Given the description of an element on the screen output the (x, y) to click on. 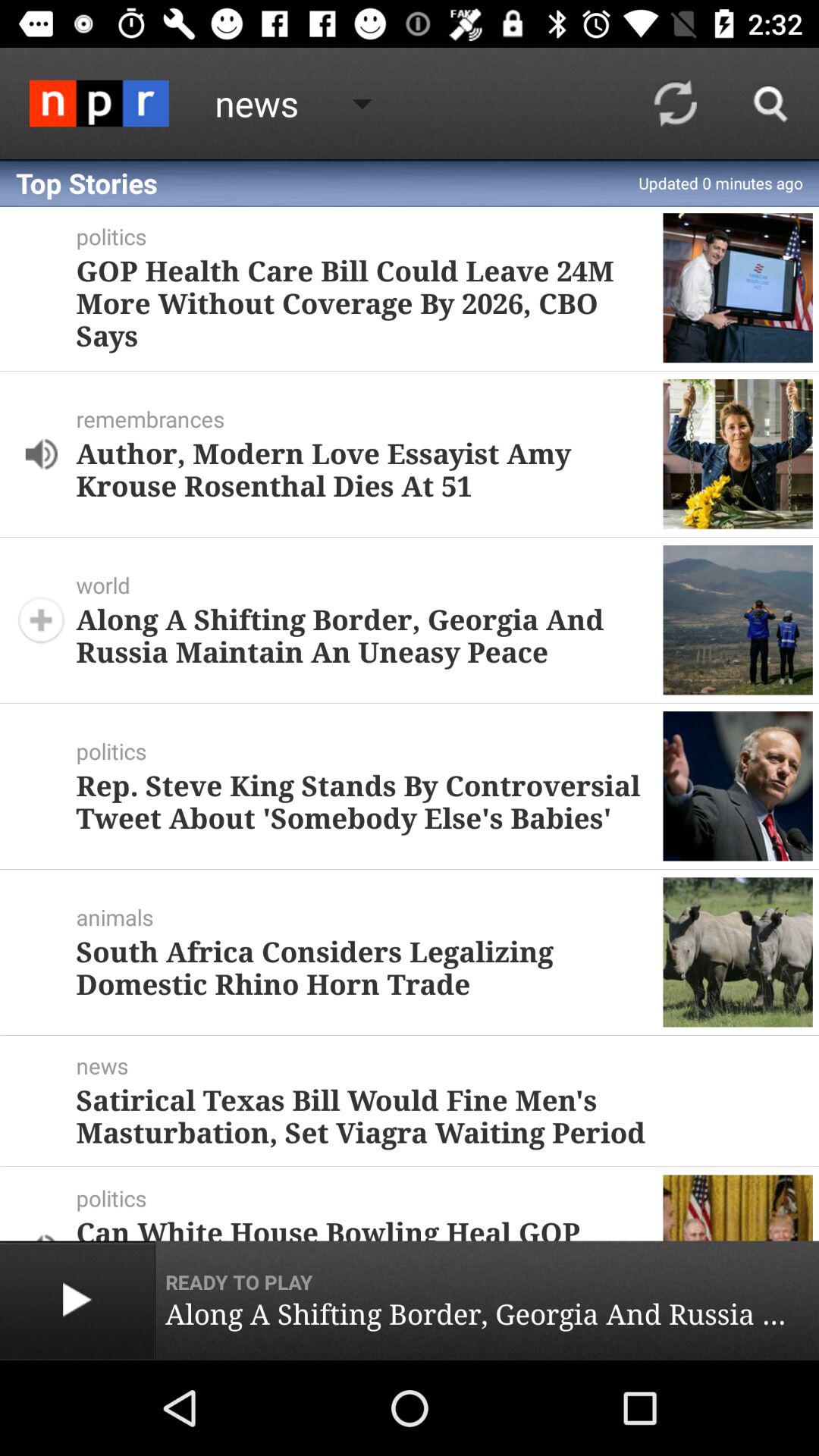
turn off remembrances icon (369, 418)
